Given the description of an element on the screen output the (x, y) to click on. 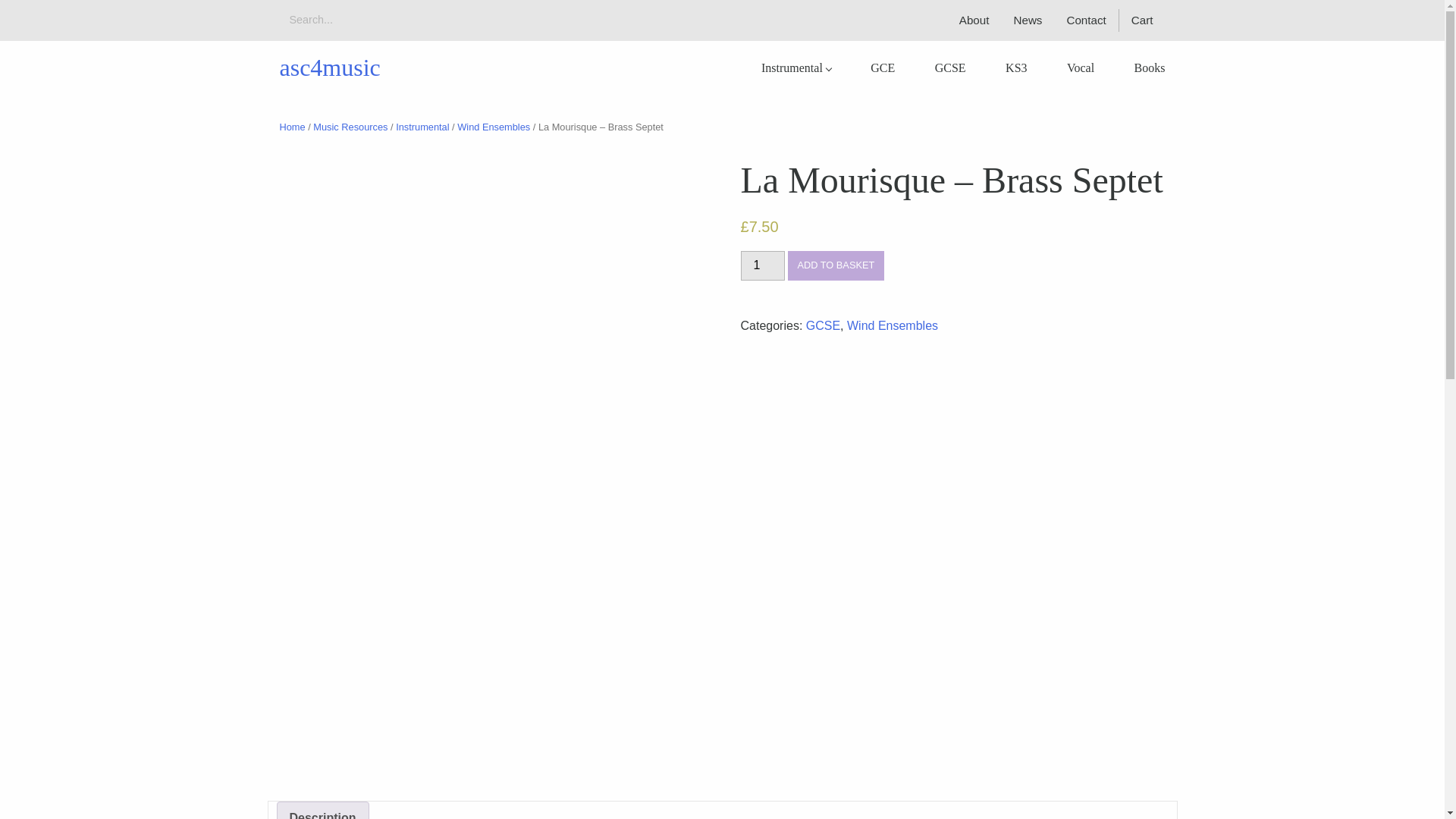
Cart (1148, 20)
About (974, 20)
asc4music (328, 67)
GCSE (823, 325)
Books (1149, 67)
ADD TO BASKET (836, 265)
View your shopping cart (1148, 20)
Instrumental (796, 67)
Wind Ensembles (493, 126)
Search for: (354, 20)
